Given the description of an element on the screen output the (x, y) to click on. 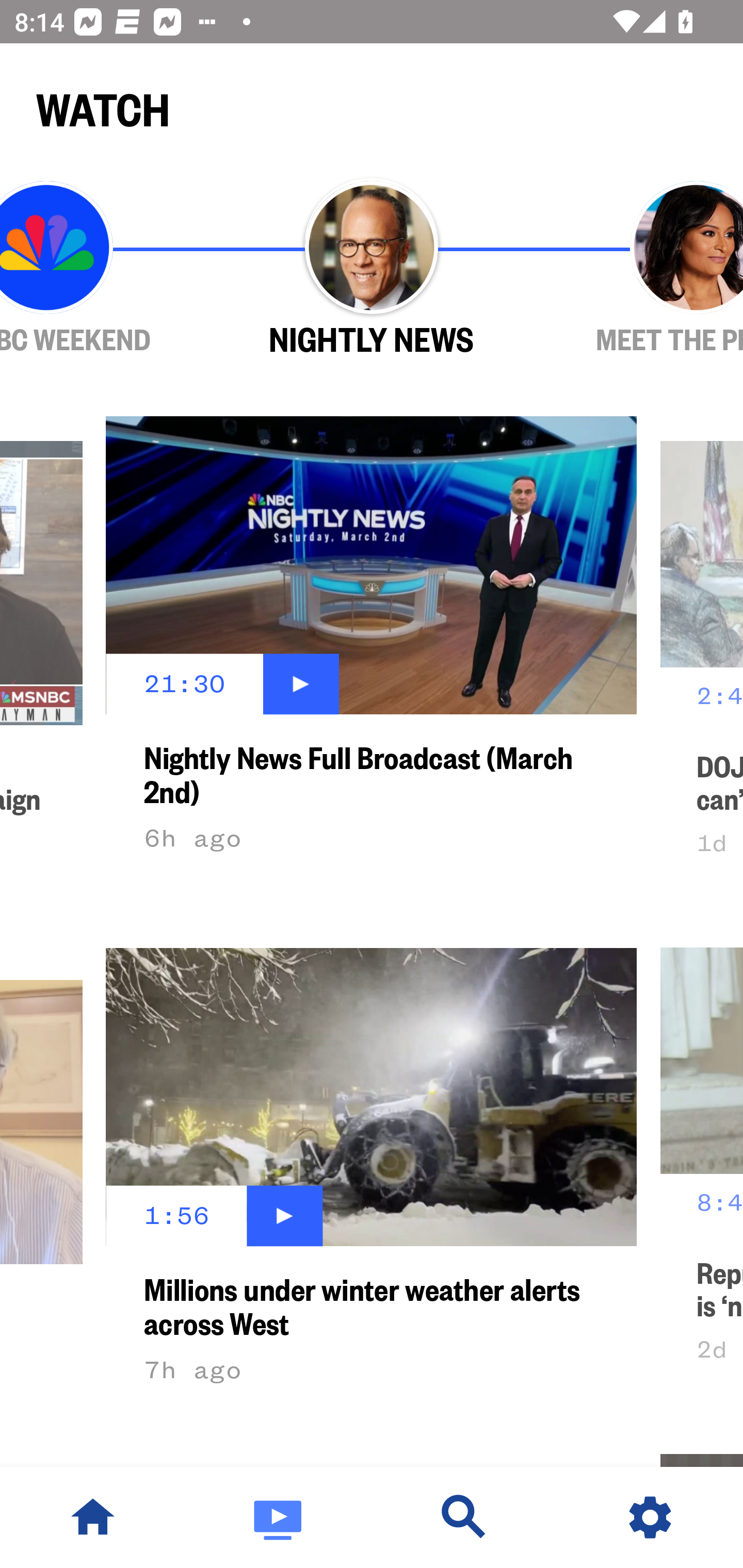
MSNBC WEEKEND (104, 268)
NIGHTLY NEWS (371, 268)
MEET THE PRESS (638, 268)
NBC News Home (92, 1517)
Discover (464, 1517)
Settings (650, 1517)
